Given the description of an element on the screen output the (x, y) to click on. 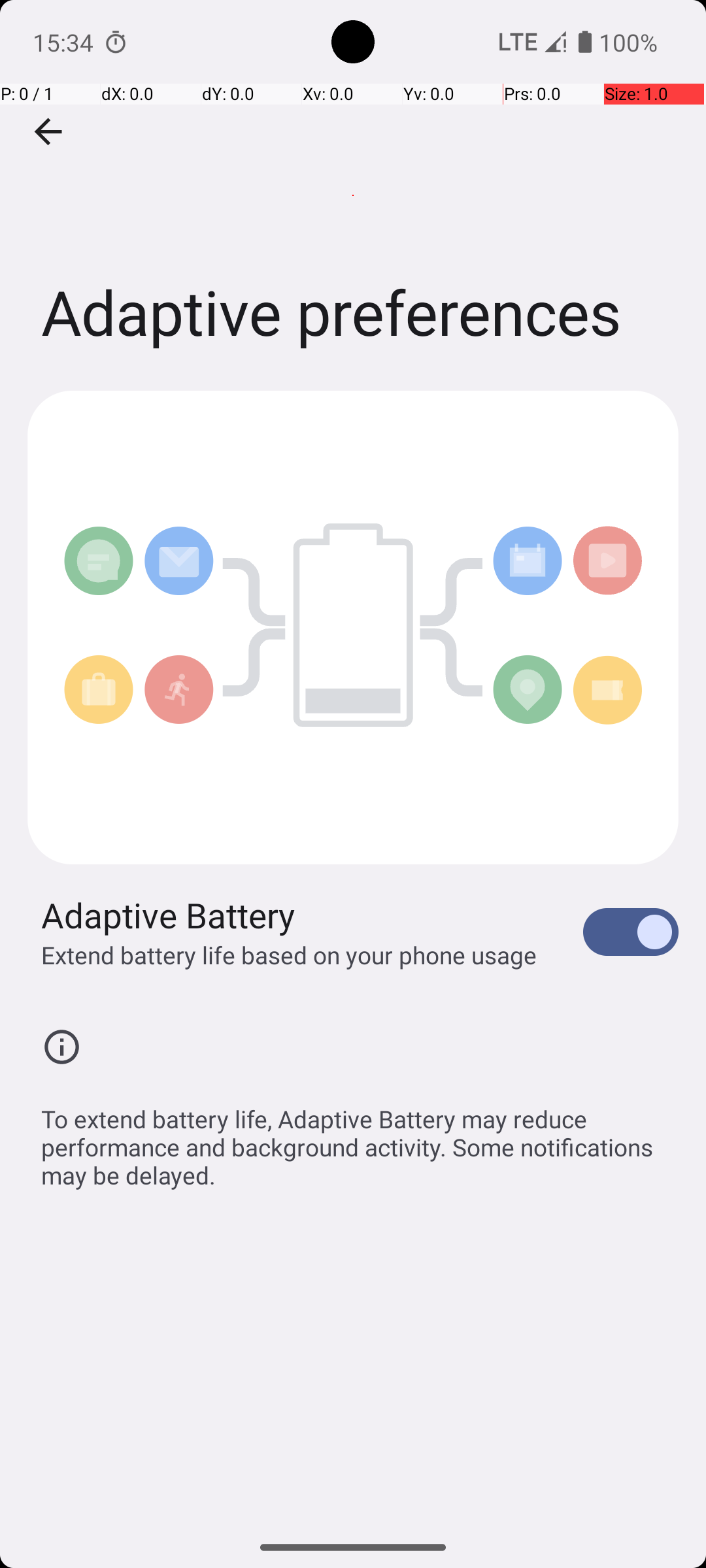
Adaptive Battery Element type: android.widget.TextView (168, 914)
Extend battery life based on your phone usage Element type: android.widget.TextView (288, 954)
To extend battery life, Adaptive Battery may reduce performance and background activity. Some notifications may be delayed. Element type: android.widget.TextView (359, 1139)
